Given the description of an element on the screen output the (x, y) to click on. 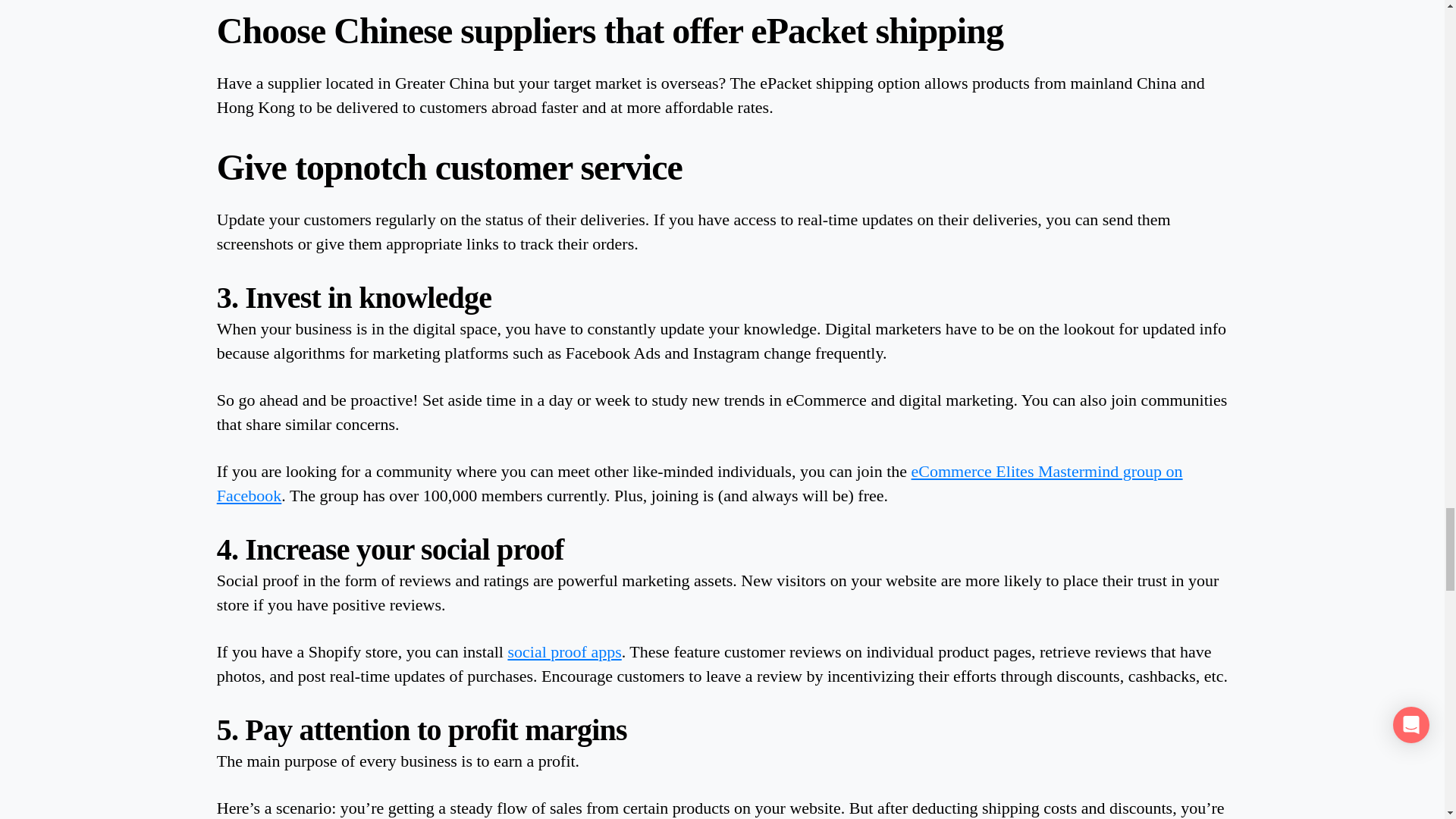
eCommerce Elites Mastermind group on Facebook (699, 483)
social proof apps (563, 651)
